Given the description of an element on the screen output the (x, y) to click on. 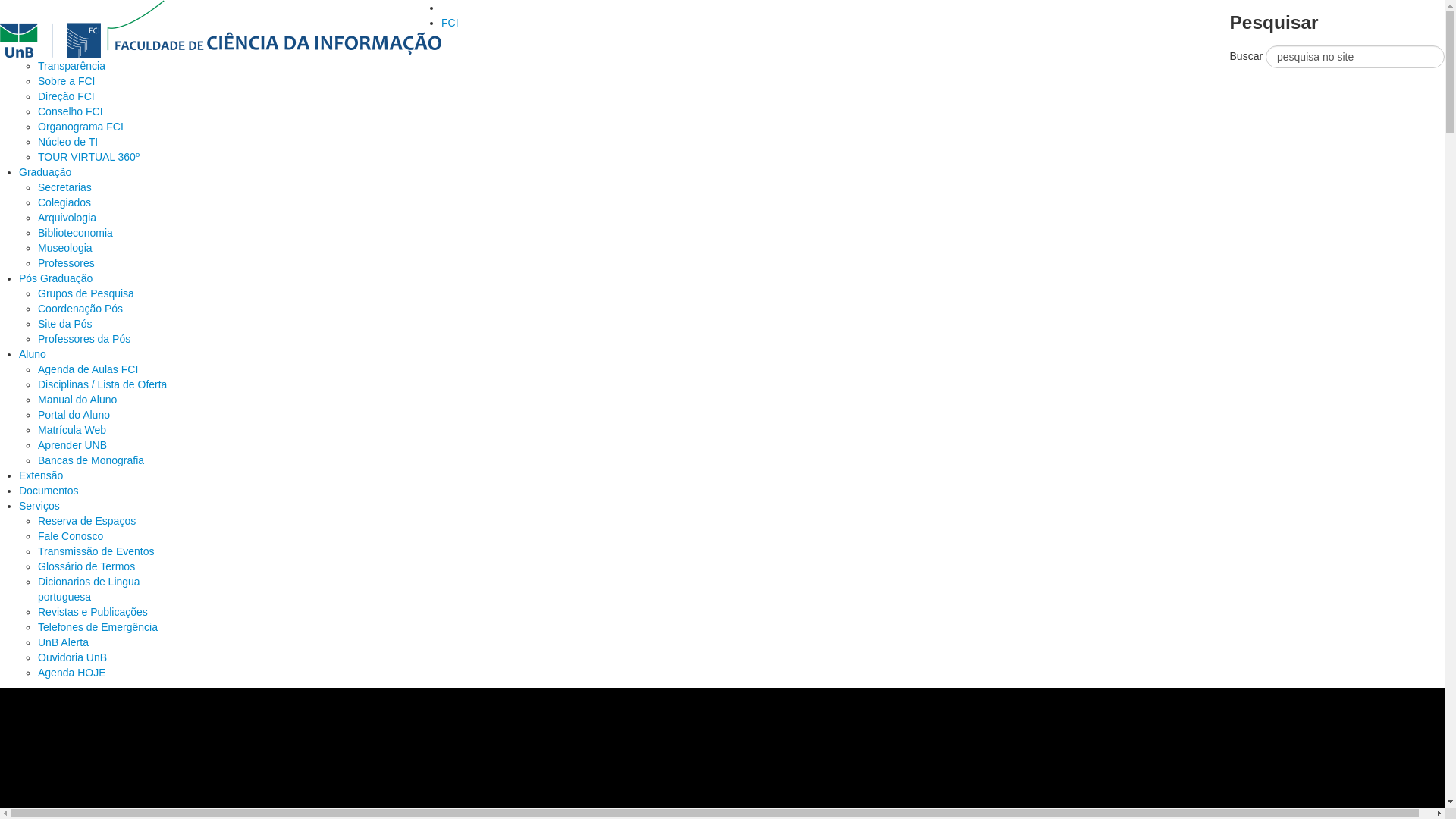
Aprender UNB Element type: text (71, 445)
Museologia Element type: text (64, 247)
UnB Alerta Element type: text (62, 642)
Ouvidoria UnB Element type: text (71, 657)
Documentos Element type: text (48, 490)
Biblioteconomia Element type: text (74, 232)
Dicionarios de Lingua portuguesa Element type: text (88, 588)
Grupos de Pesquisa Element type: text (85, 293)
Arquivologia Element type: text (66, 217)
Agenda de Aulas FCI Element type: text (87, 369)
Sobre a FCI Element type: text (65, 81)
Professores Element type: text (65, 263)
FCI Element type: text (449, 22)
Portal do Aluno Element type: text (73, 414)
Colegiados Element type: text (64, 202)
Conselho FCI Element type: text (70, 111)
Fale Conosco Element type: text (70, 536)
Manual do Aluno Element type: text (76, 399)
Secretarias Element type: text (64, 187)
Bancas de Monografia Element type: text (90, 460)
Agenda HOJE Element type: text (71, 672)
Organograma FCI Element type: text (80, 126)
FCI Element type: hover (220, 27)
Disciplinas / Lista de Oferta Element type: text (101, 384)
Aluno Element type: text (32, 354)
